Given the description of an element on the screen output the (x, y) to click on. 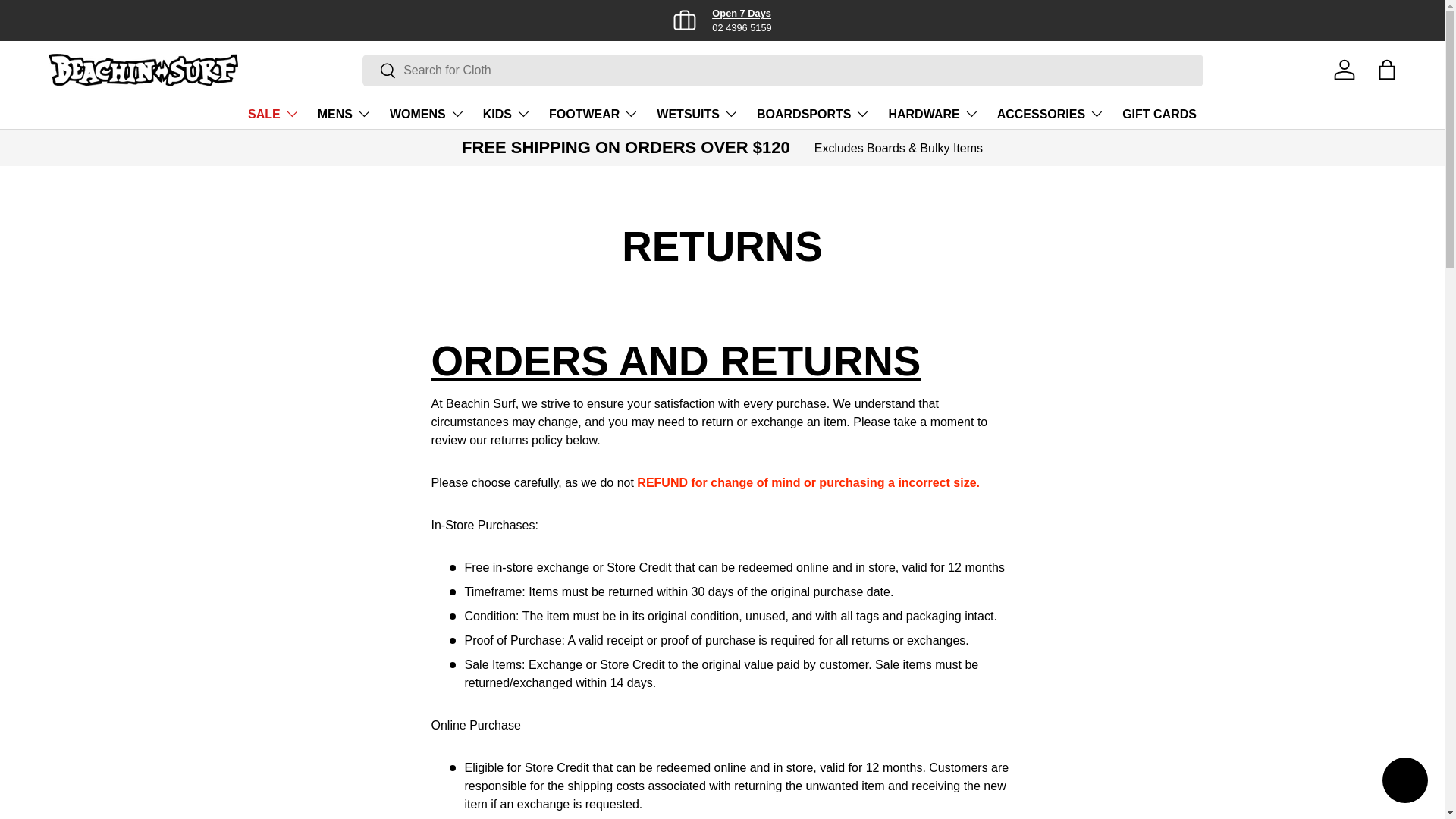
Contact (741, 12)
Open 7 Days (741, 12)
SALE (273, 113)
SKIP TO CONTENT (68, 21)
Shopify online store chat (1404, 781)
Search (379, 71)
Bag (1386, 69)
02 4396 5159 (741, 27)
MENS (722, 20)
